Given the description of an element on the screen output the (x, y) to click on. 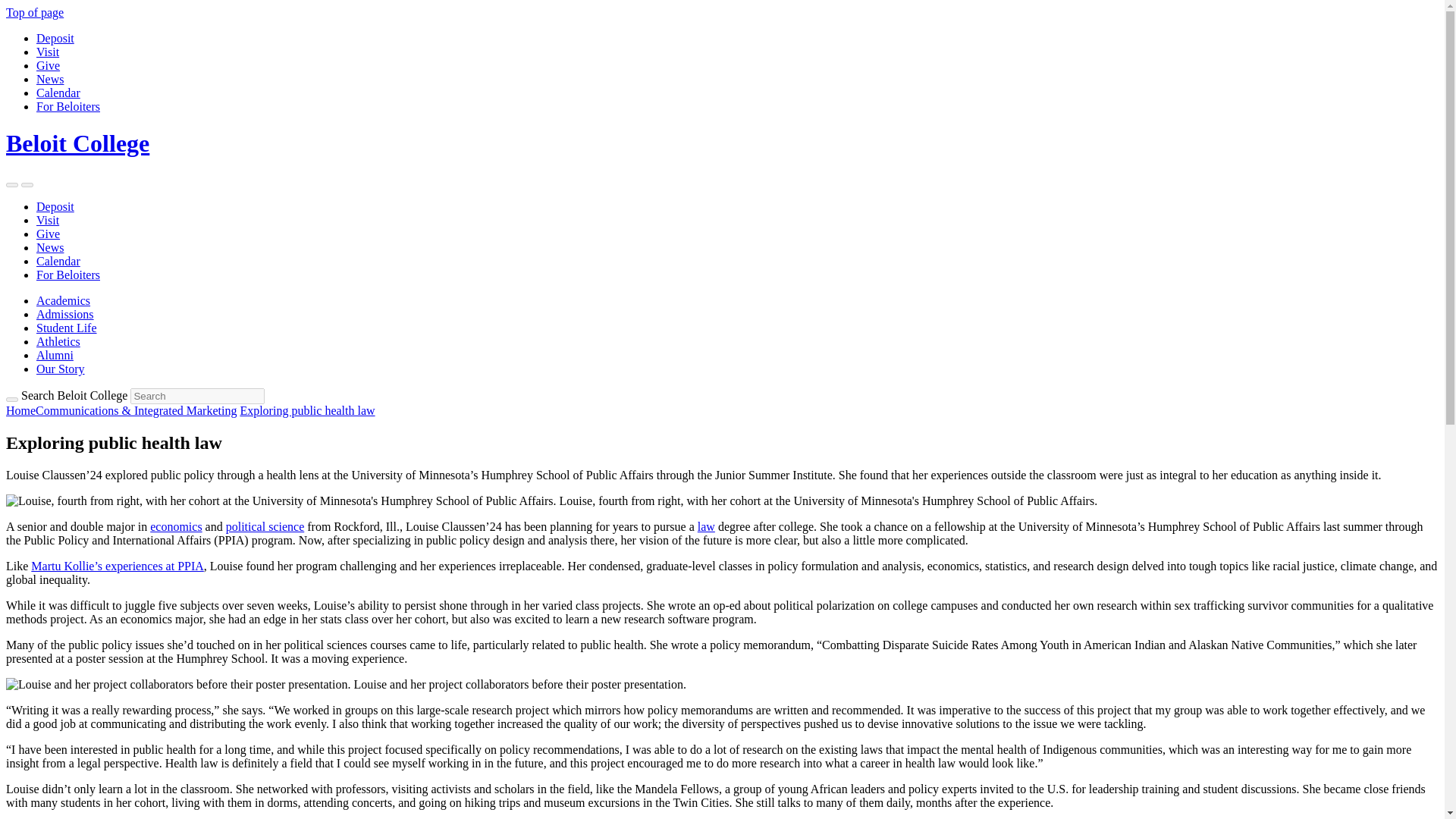
Our Story (60, 368)
For Beloiters (68, 106)
Top of page (34, 11)
Home (19, 410)
Academics (63, 300)
Louise Claussen JSI (280, 500)
Deposit (55, 205)
Calendar (58, 260)
Student Life (66, 327)
News (50, 246)
Athletics (58, 341)
Give (47, 65)
Exploring public health law (307, 410)
Visit (47, 219)
law (705, 526)
